Given the description of an element on the screen output the (x, y) to click on. 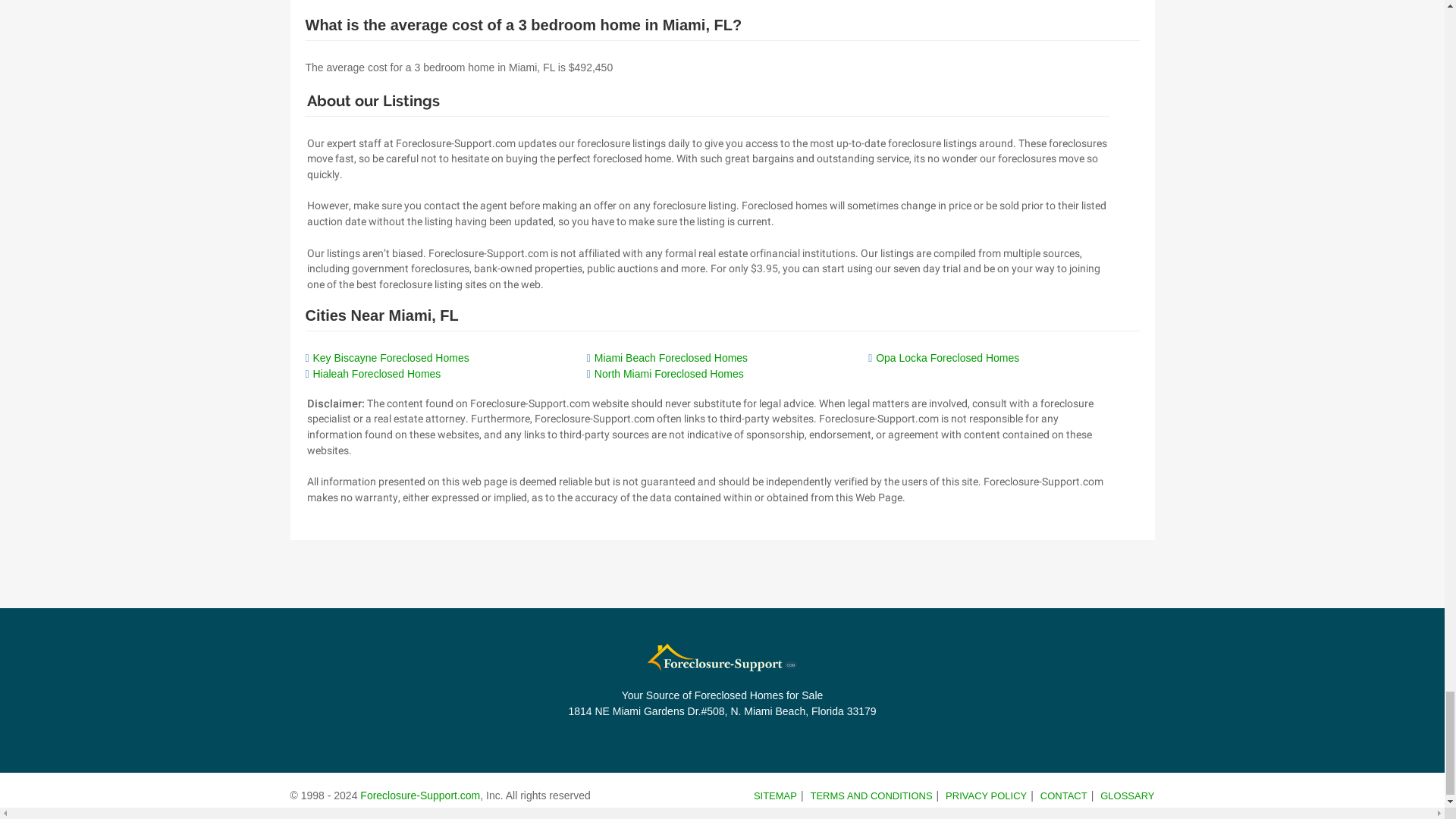
North Miami (669, 372)
Key Biscayne (390, 357)
Hialeah (377, 372)
Miami Beach (671, 357)
Opa Locka (947, 357)
